Given the description of an element on the screen output the (x, y) to click on. 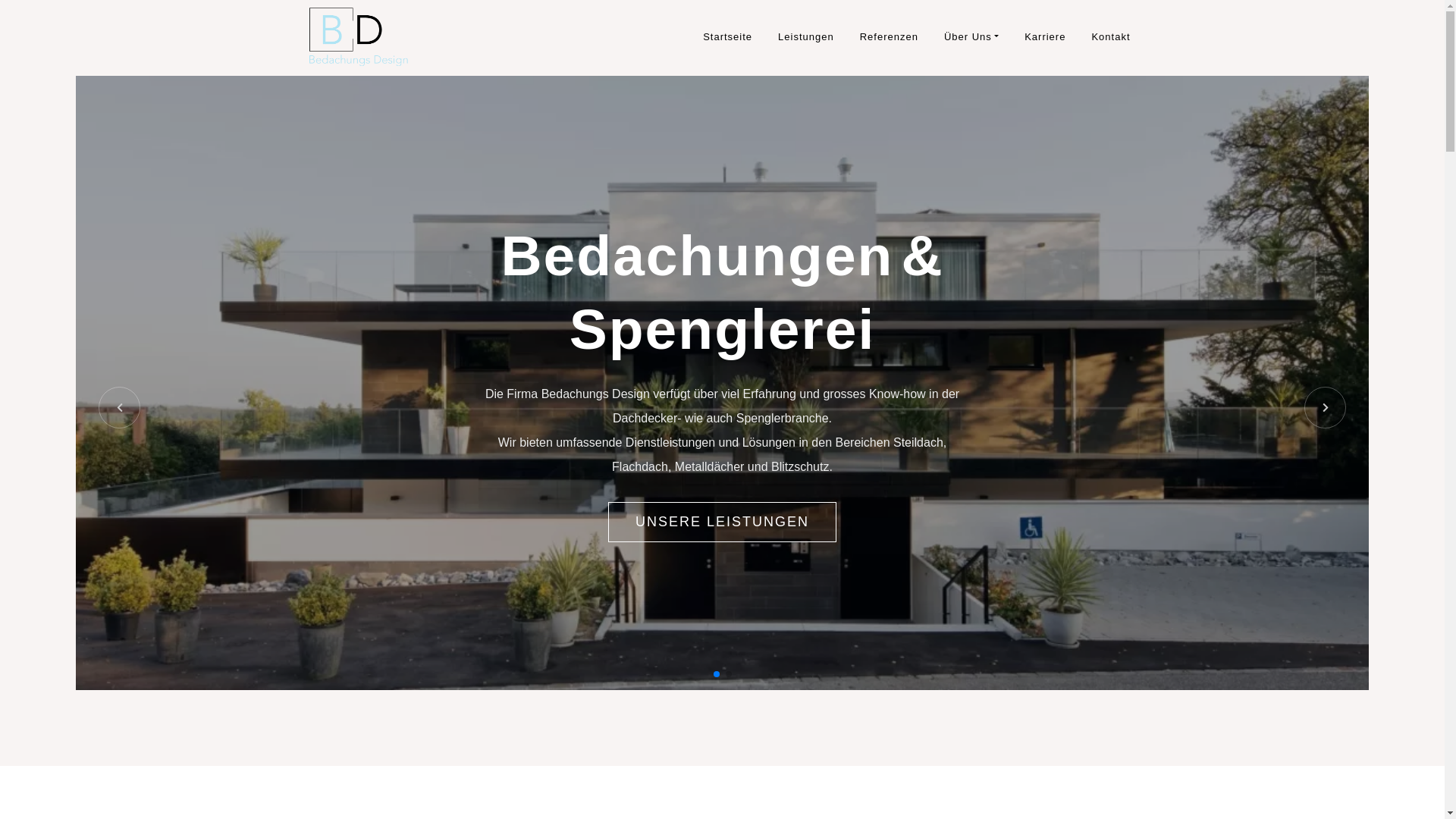
Karriere Element type: text (1044, 37)
Startseite Element type: text (727, 37)
Referenzen Element type: text (888, 37)
Kontakt Element type: text (1110, 37)
UNSERE LEISTUNGEN Element type: text (722, 522)
Leistungen Element type: text (805, 37)
